Given the description of an element on the screen output the (x, y) to click on. 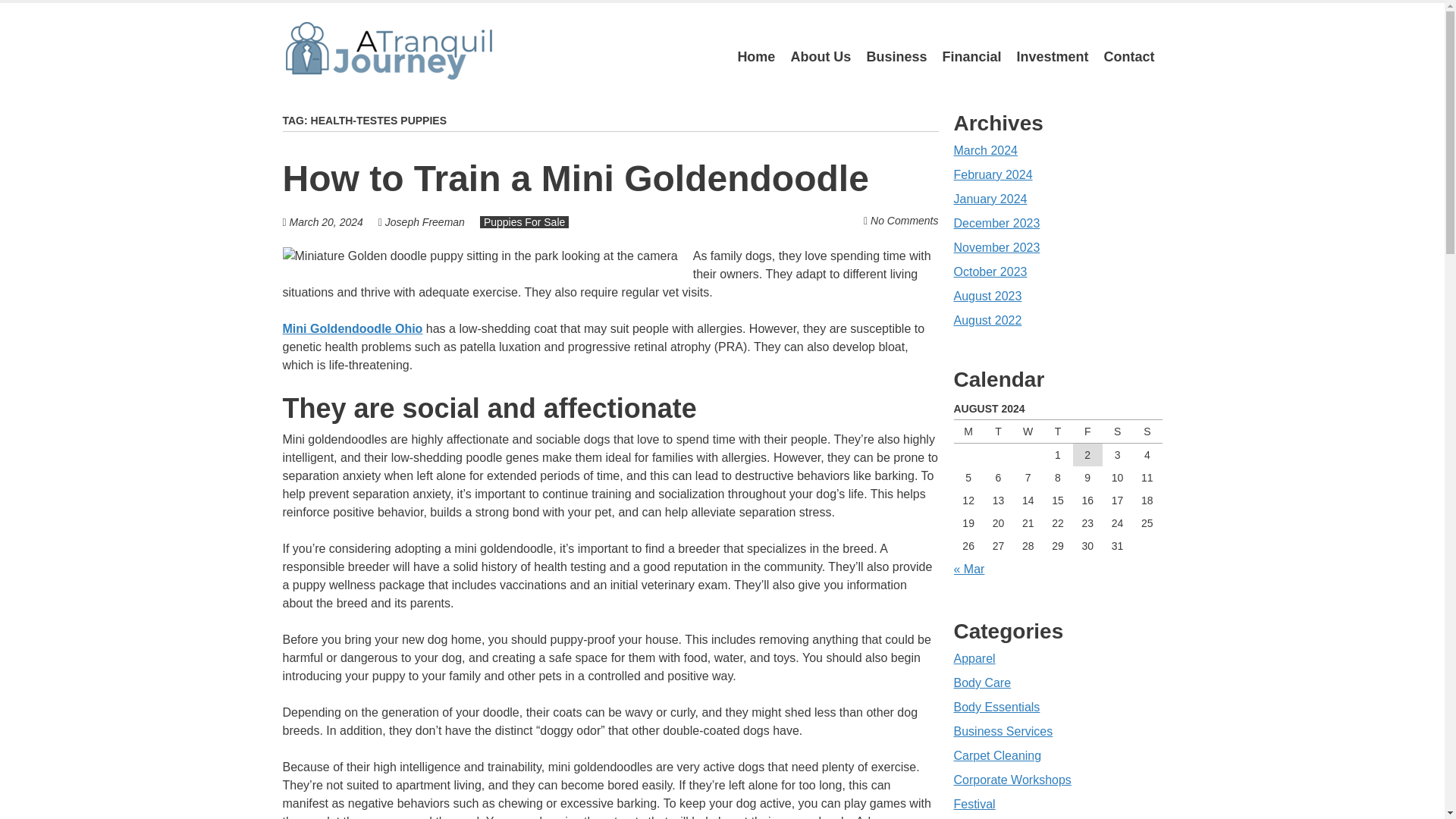
Festival (974, 803)
Saturday (1117, 431)
View all posts by Joseph Freeman (424, 222)
Body Essentials (997, 707)
Body Care (982, 682)
Comment on How to Train a Mini Goldendoodle (903, 220)
December 2023 (997, 223)
Contact (1128, 57)
Friday (1087, 431)
Financial (971, 57)
Business (896, 57)
March 20, 2024 (325, 222)
Sunday (1146, 431)
Wednesday (1027, 431)
Tuesday (998, 431)
